Given the description of an element on the screen output the (x, y) to click on. 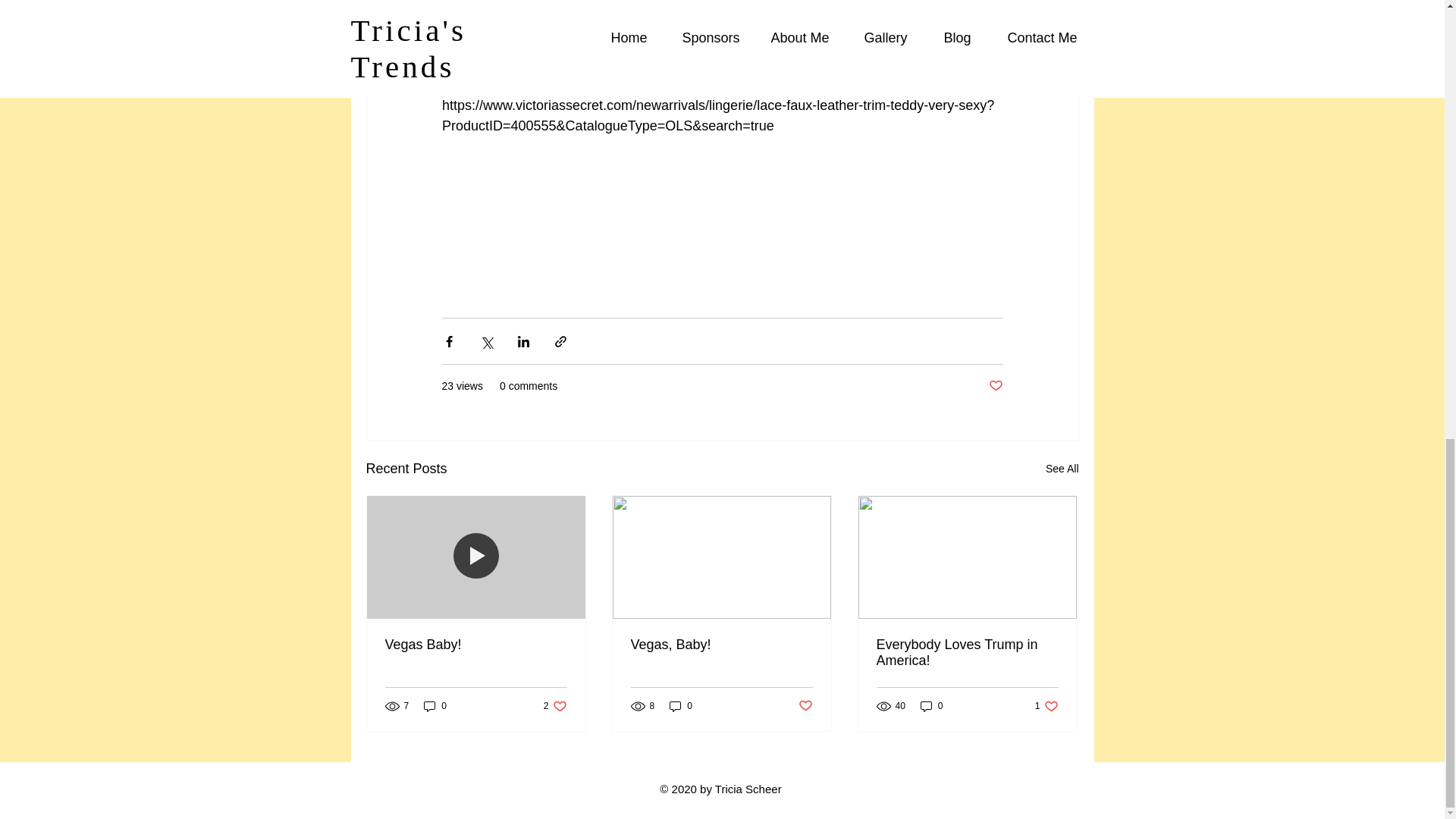
Vegas, Baby! (721, 644)
Post not marked as liked (804, 706)
0 (931, 706)
0 (681, 706)
Vegas Baby! (1046, 706)
Everybody Loves Trump in America! (476, 644)
See All (967, 653)
Post not marked as liked (1061, 468)
